Given the description of an element on the screen output the (x, y) to click on. 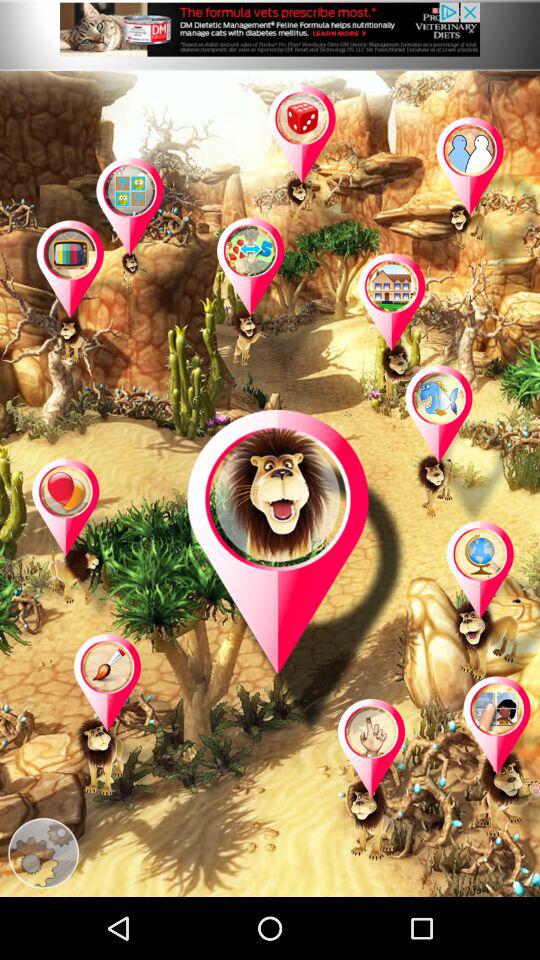
place button (496, 758)
